Given the description of an element on the screen output the (x, y) to click on. 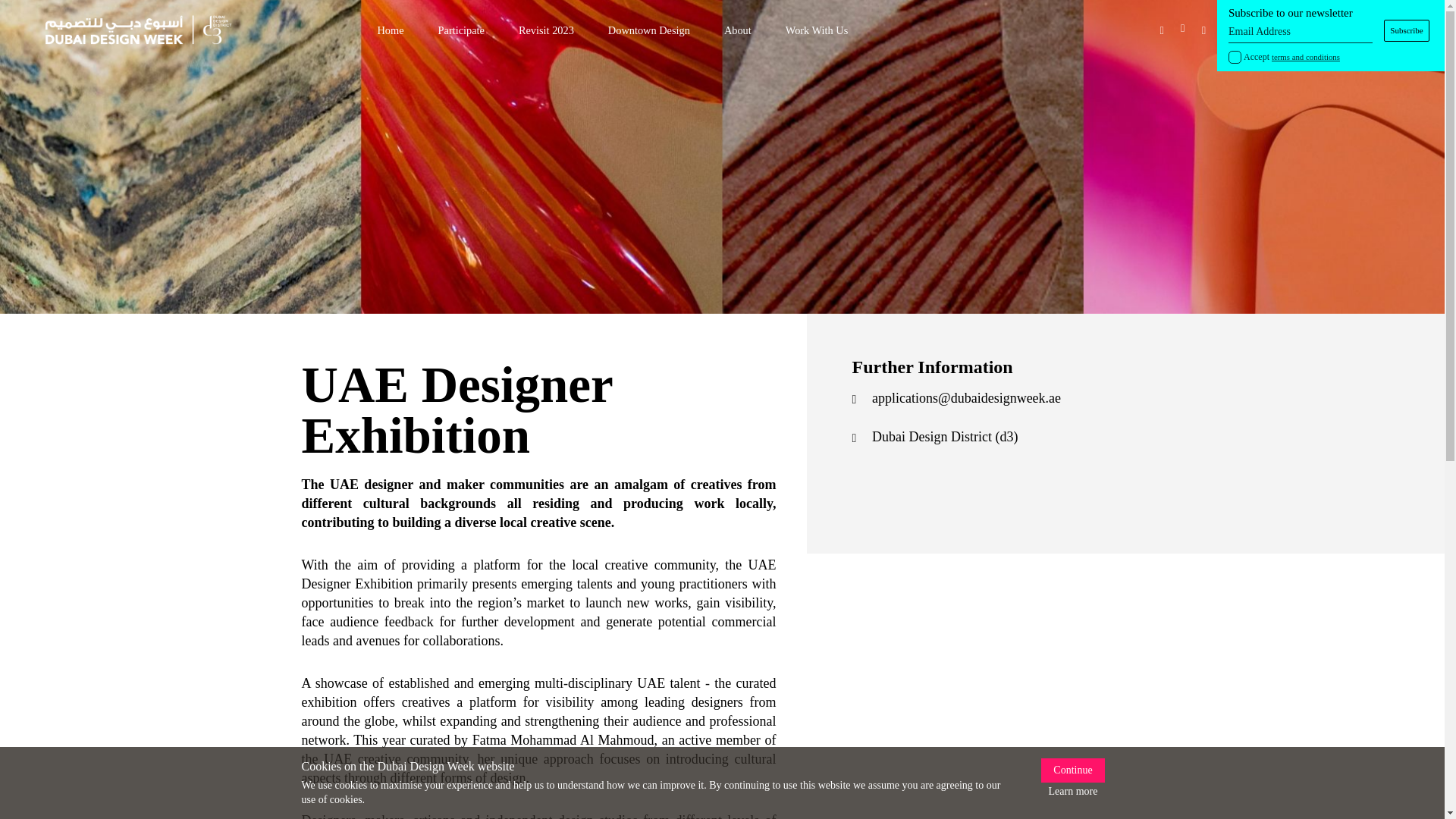
Subscribe (1406, 30)
terms and conditions (1305, 56)
Revisit 2023 (545, 30)
Downtown Design (649, 30)
Work With Us (817, 30)
Subscribe (1406, 30)
